Given the description of an element on the screen output the (x, y) to click on. 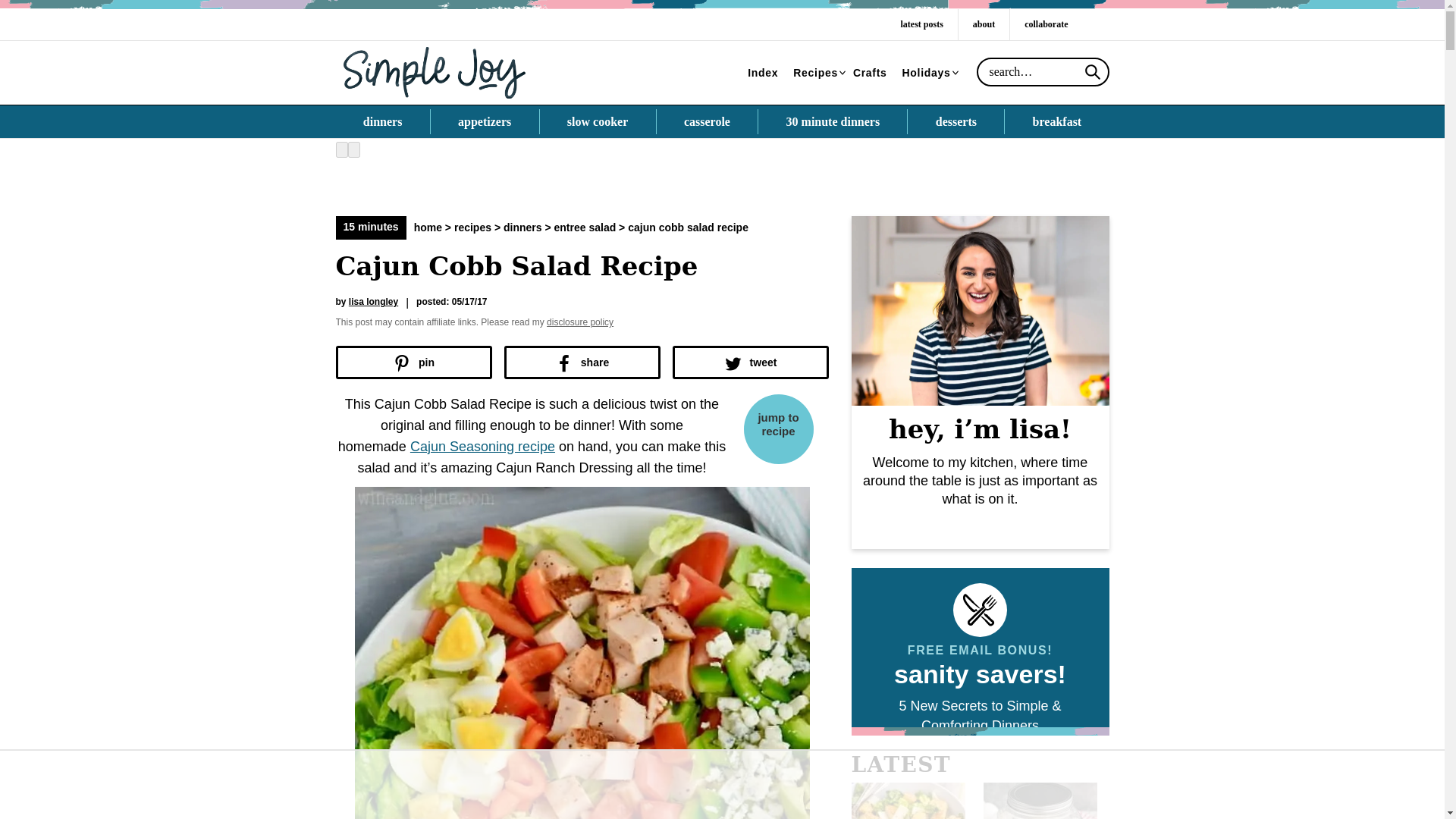
Share on Facebook (581, 362)
youtube (1106, 24)
Recipes (815, 72)
instagram (1090, 24)
Search for (1042, 71)
pinterest (1096, 24)
Simple Joy (433, 71)
Share on Pinterest (413, 362)
Index (762, 72)
Share on Twitter (749, 362)
collaborate (1045, 24)
twitter (1100, 24)
about (983, 24)
latest posts (920, 24)
facebook (1085, 24)
